Given the description of an element on the screen output the (x, y) to click on. 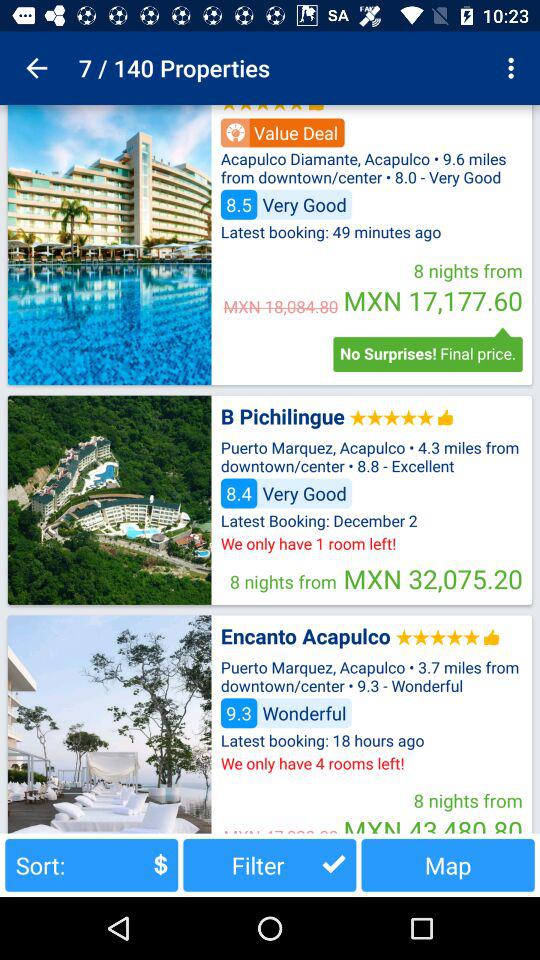
swipe to the sort:  icon (91, 864)
